Given the description of an element on the screen output the (x, y) to click on. 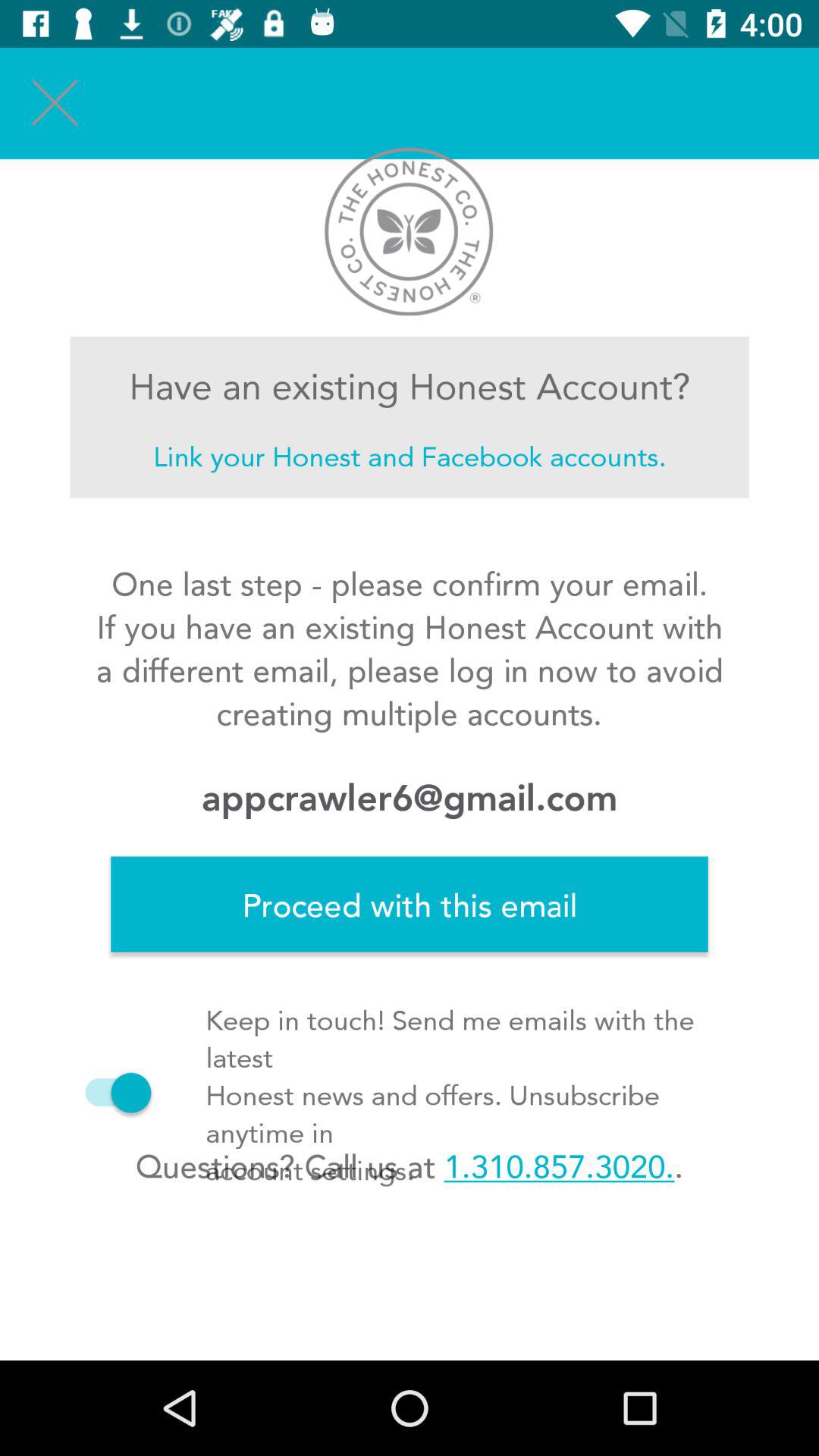
turn on the item at the bottom left corner (110, 1092)
